Given the description of an element on the screen output the (x, y) to click on. 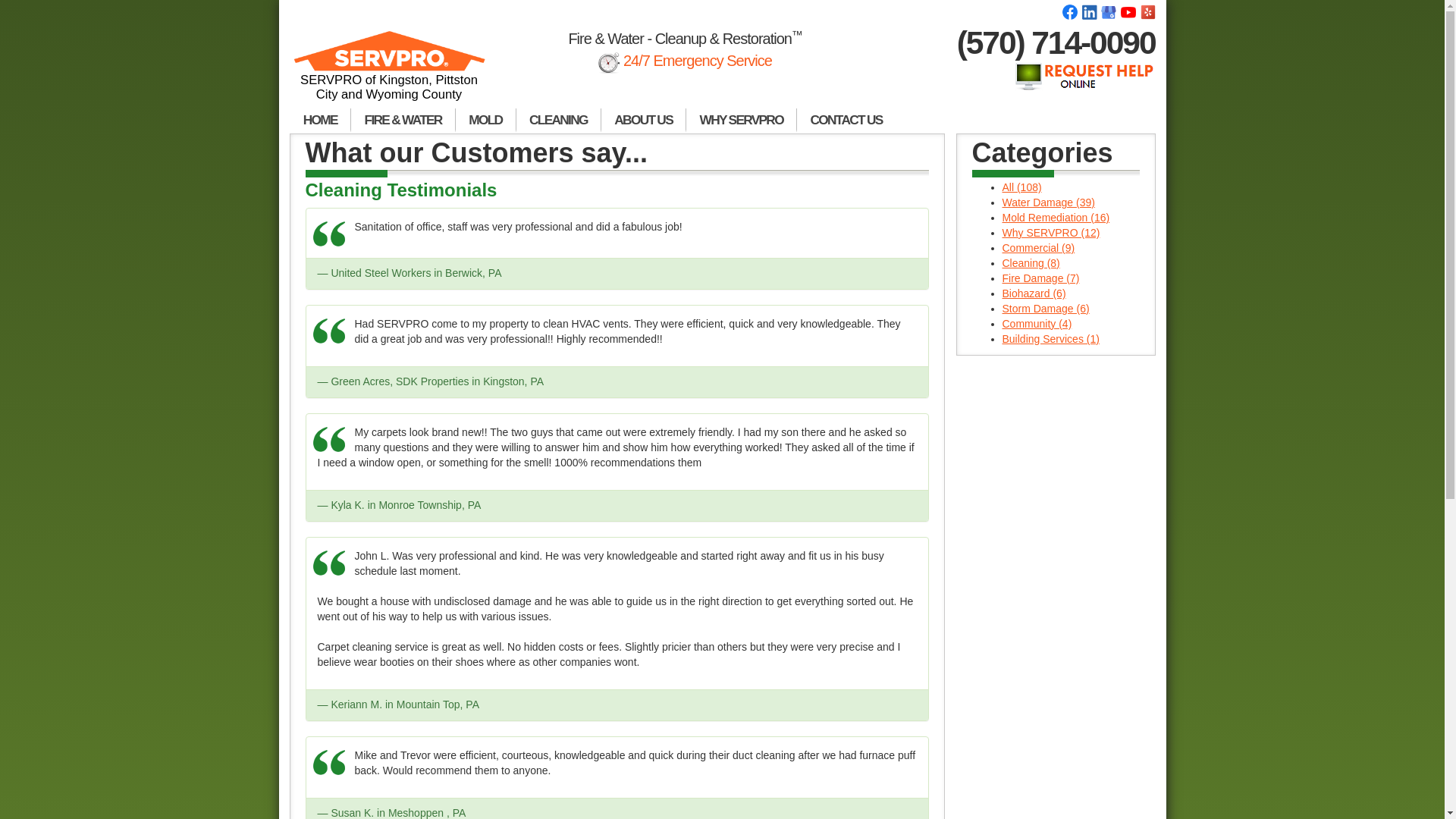
MOLD (485, 120)
CLEANING (558, 120)
ABOUT US (643, 120)
HOME (319, 120)
SERVPRO of Kingston, Pittston City and Wyoming County (389, 72)
